Given the description of an element on the screen output the (x, y) to click on. 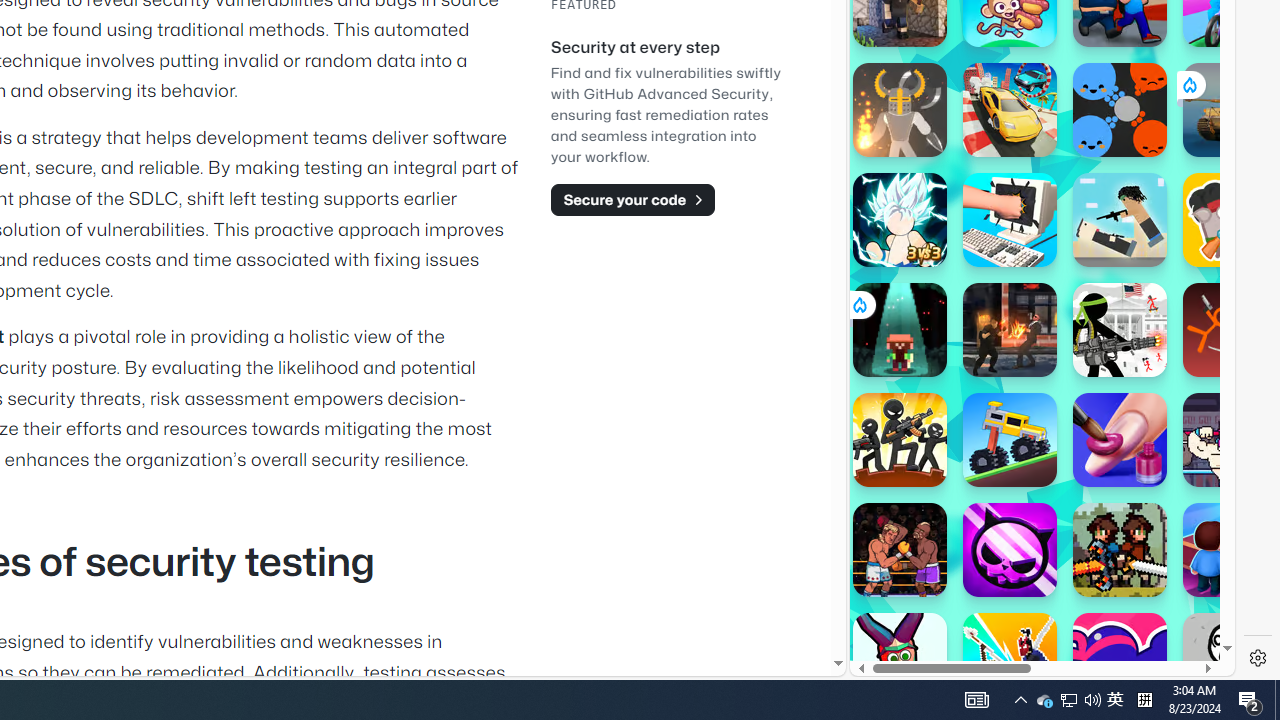
Bacon May Die (1229, 219)
Nails DIY: Manicure Master Nails DIY: Manicure Master (1119, 439)
Bacon May Die Bacon May Die (1229, 219)
Combat Reloaded Combat Reloaded poki.com (1092, 245)
Hills of Steel (943, 200)
Tiger Tank Tiger Tank (1229, 109)
Crazy Cars (1217, 290)
Nails DIY: Manicure Master (1119, 439)
Poki (1034, 606)
Drive Mad Drive Mad (1009, 439)
We Become What We Behold (1229, 659)
Stick Defenders (899, 439)
Stickman Dragon Fight (899, 219)
Search results from poki.com (1005, 59)
SUBWAY SURFERS - Play Online for Free! | Poki (1034, 624)
